Given the description of an element on the screen output the (x, y) to click on. 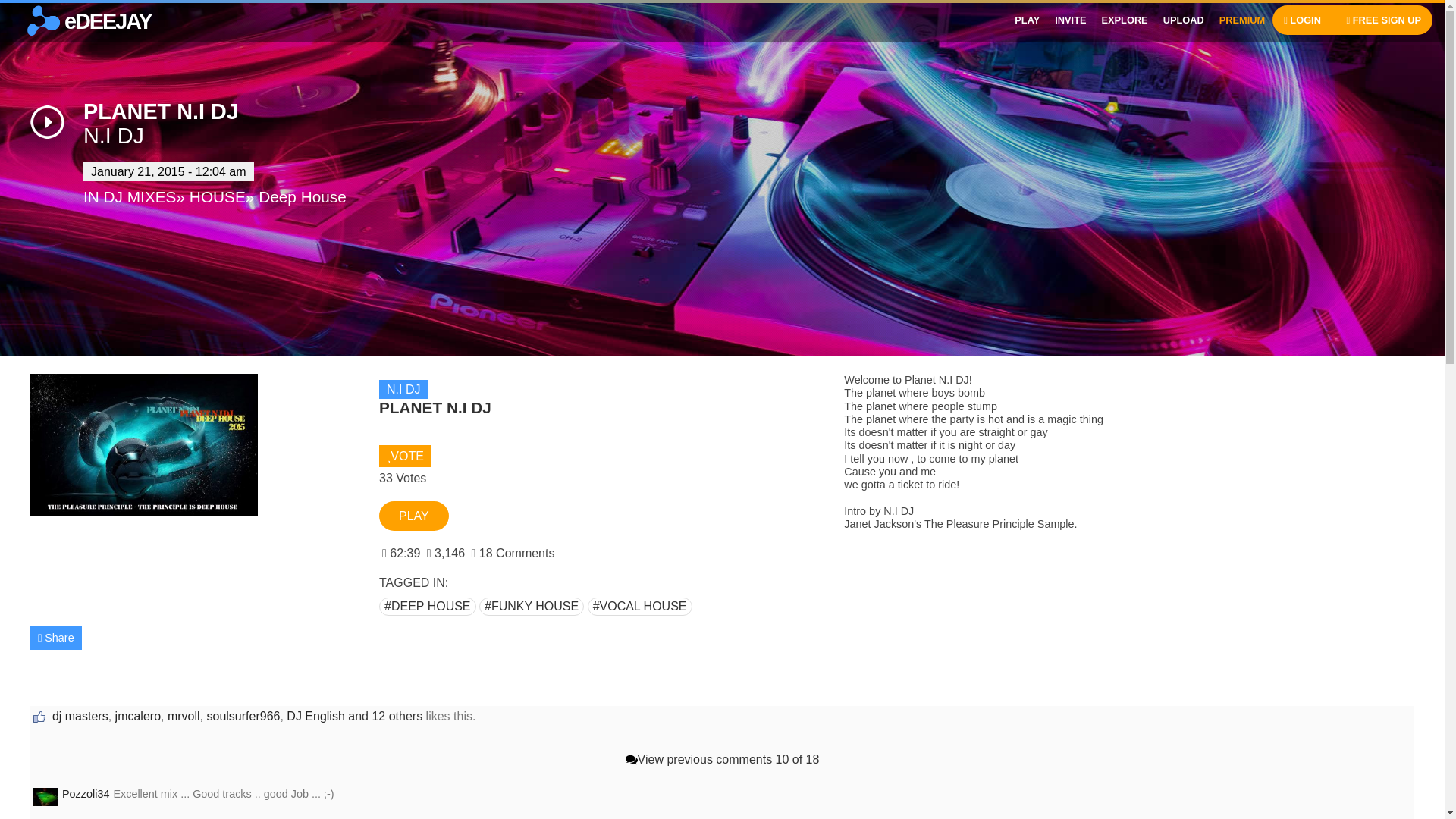
EXPLORE (1123, 20)
eDEEJAY (75, 20)
eDEEJAY (43, 20)
PREMIUM (1241, 20)
UPLOAD (1183, 20)
INVITE (1069, 20)
Pozzoli34 (45, 796)
PLAY (1028, 20)
Pozzoli34 (45, 796)
